Given the description of an element on the screen output the (x, y) to click on. 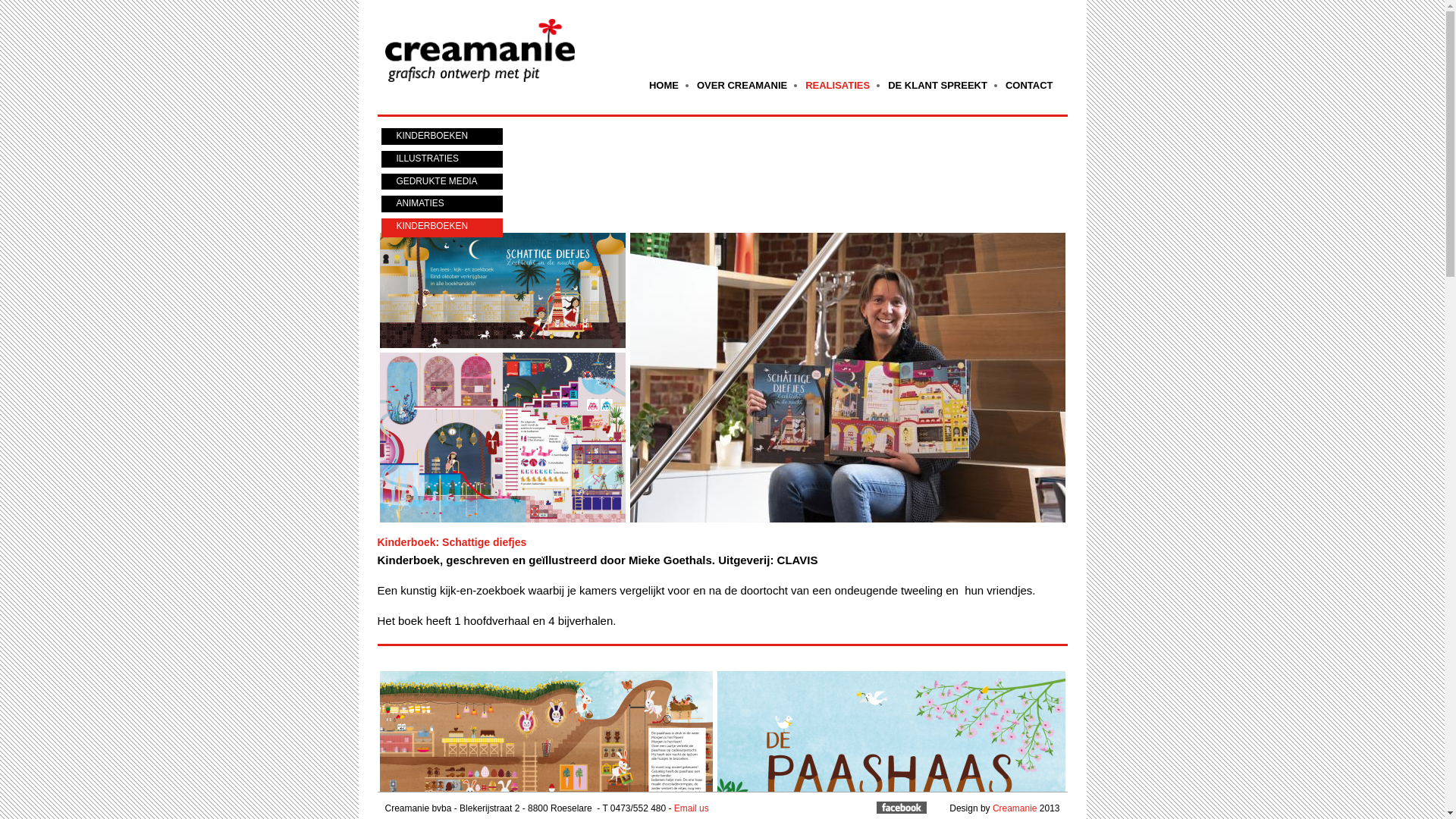
REALISATIES Element type: text (837, 85)
Email us Element type: text (691, 808)
HOME Element type: text (663, 85)
ANIMATIES Element type: text (441, 203)
Cover zoekboek Schattige diefjes - Mieke Goethals Element type: hover (501, 290)
KINDERBOEKEN Element type: text (441, 227)
GEDRUKTE MEDIA Element type: text (441, 181)
Home Element type: hover (481, 43)
Kinderboek: Schattige diefjes Element type: text (452, 542)
DE KLANT SPREEKT Element type: text (937, 85)
OVER CREAMANIE Element type: text (741, 85)
Creamanie Element type: text (1014, 808)
CONTACT Element type: text (1029, 85)
ILLUSTRATIES Element type: text (441, 158)
KINDERBOEKEN Element type: text (441, 136)
Zoekboek kinderboek Schattige diefjes - Mieke Goethals Element type: hover (846, 377)
Overslaan en naar de algemene inhoud gaan Element type: text (696, 1)
